Given the description of an element on the screen output the (x, y) to click on. 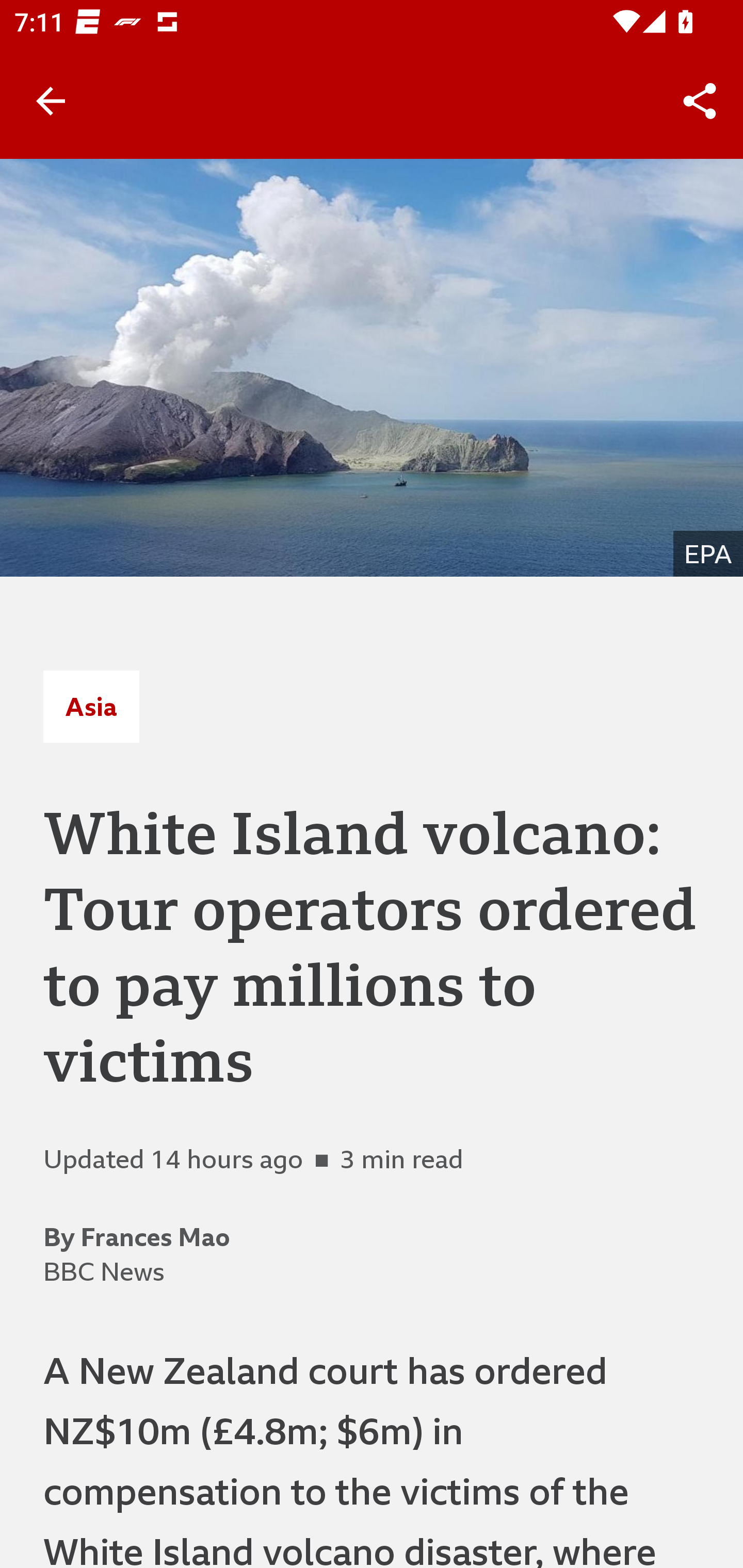
Back (50, 101)
Share (699, 101)
White Island volcano erupts (371, 367)
Asia (91, 706)
